Given the description of an element on the screen output the (x, y) to click on. 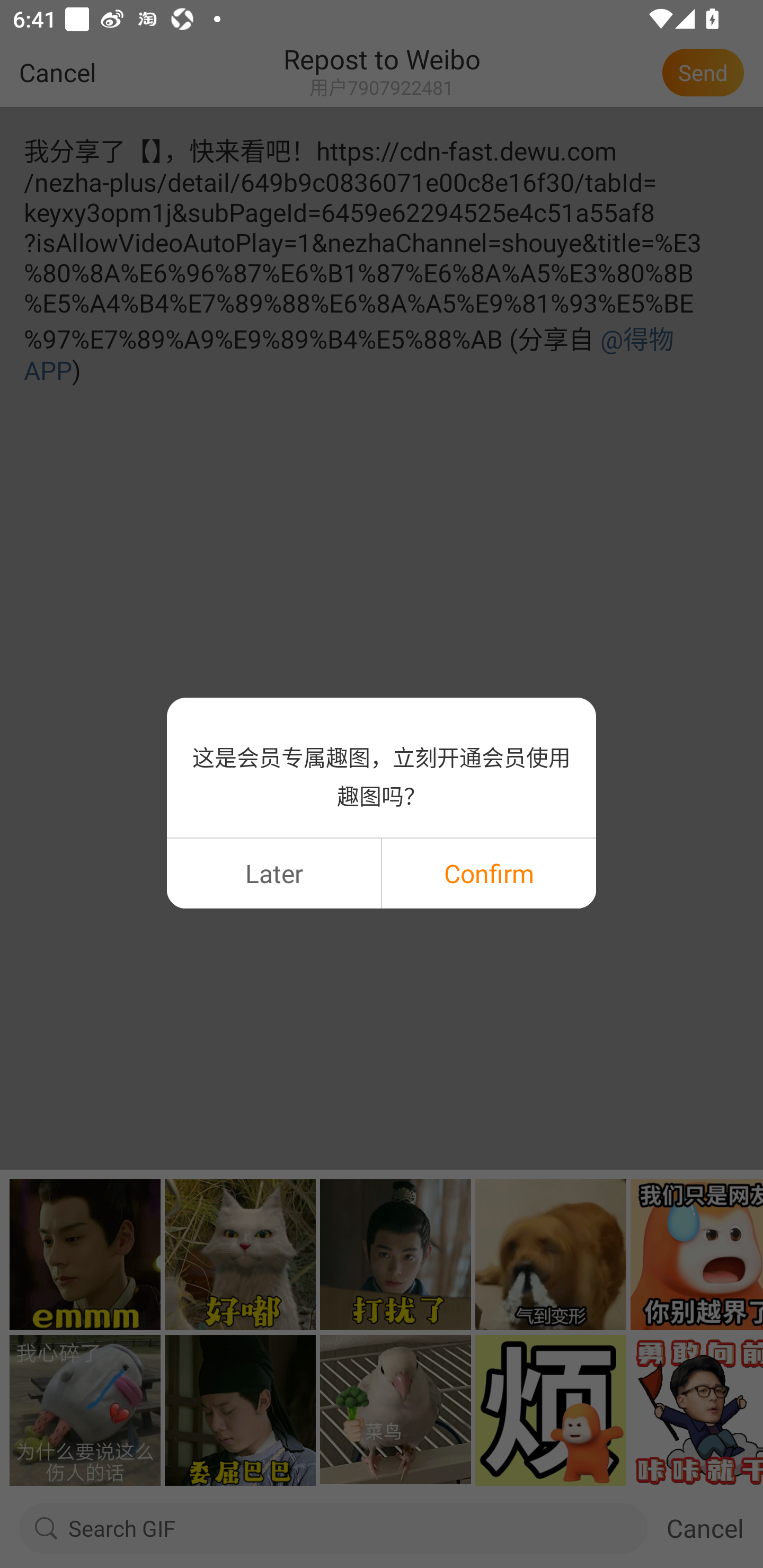
Later (273, 872)
Confirm (488, 872)
